Given the description of an element on the screen output the (x, y) to click on. 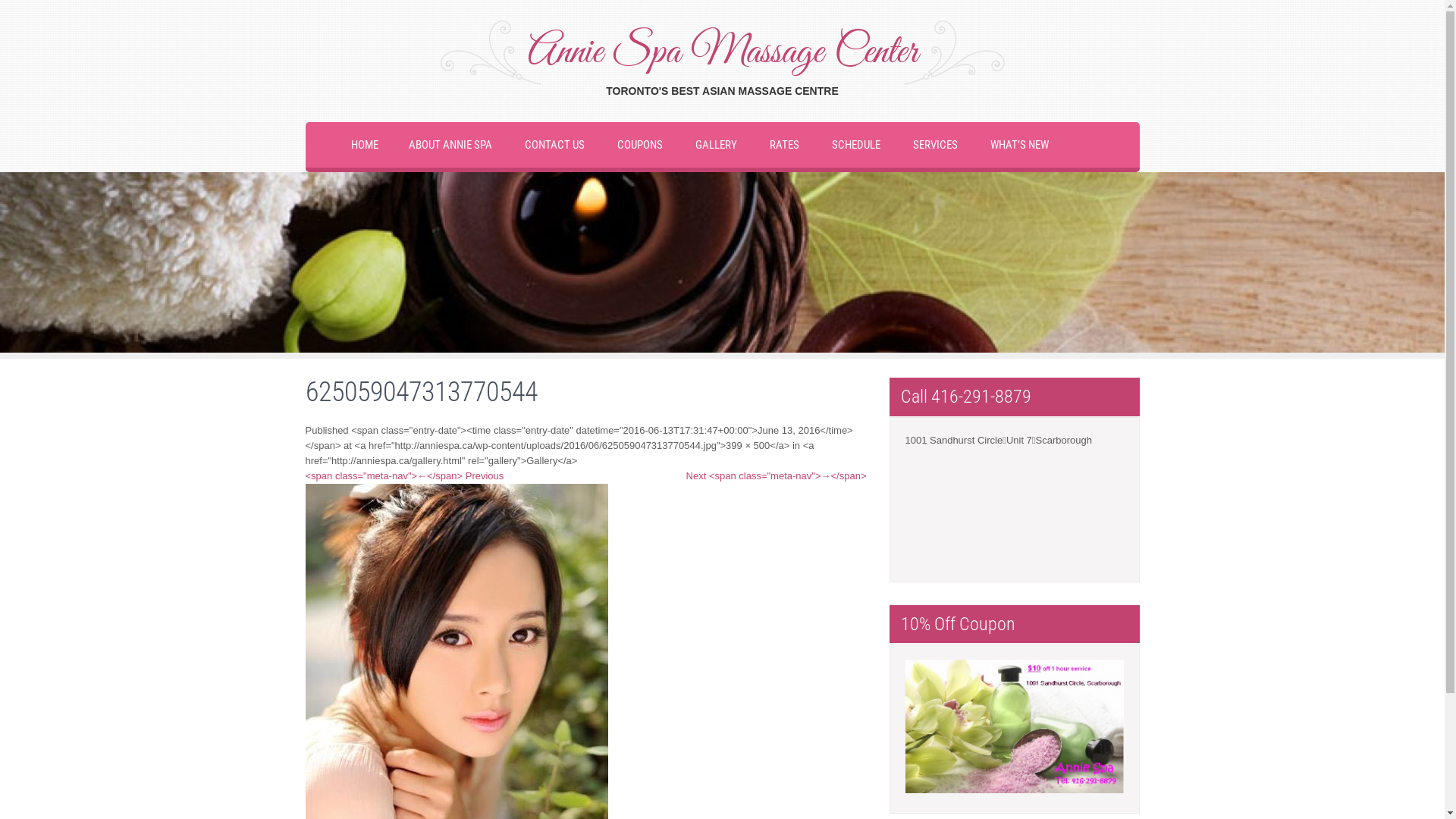
SCHEDULE Element type: text (854, 144)
GALLERY Element type: text (715, 144)
RATES Element type: text (783, 144)
COUPONS Element type: text (639, 144)
ABOUT ANNIE SPA Element type: text (449, 144)
SERVICES Element type: text (934, 144)
HOME Element type: text (363, 144)
CONTACT US Element type: text (554, 144)
Annie Spa Massage Center
TORONTO'S BEST ASIAN MASSAGE CENTRE Element type: text (721, 59)
